Given the description of an element on the screen output the (x, y) to click on. 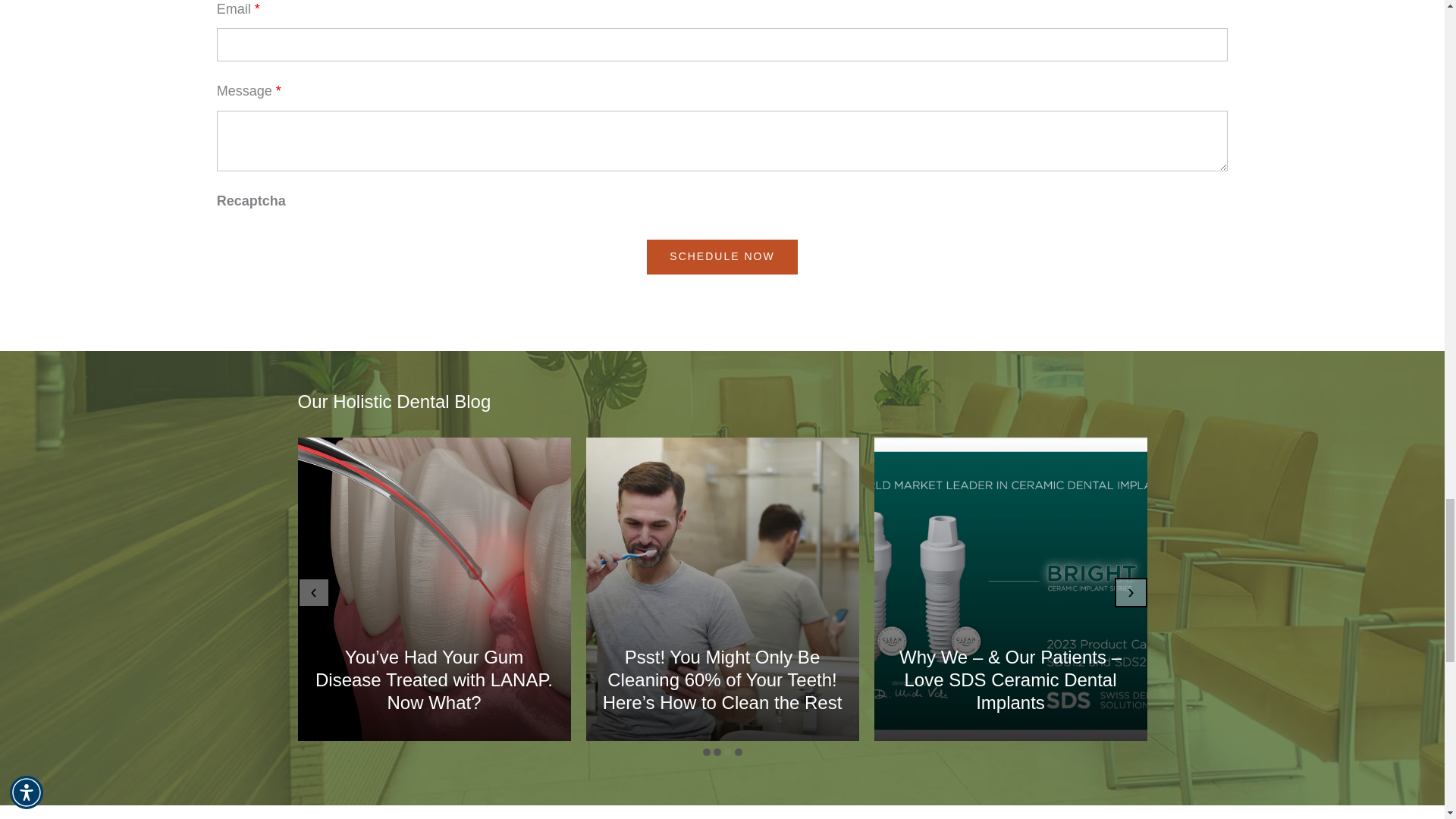
Schedule Now (721, 256)
